Given the description of an element on the screen output the (x, y) to click on. 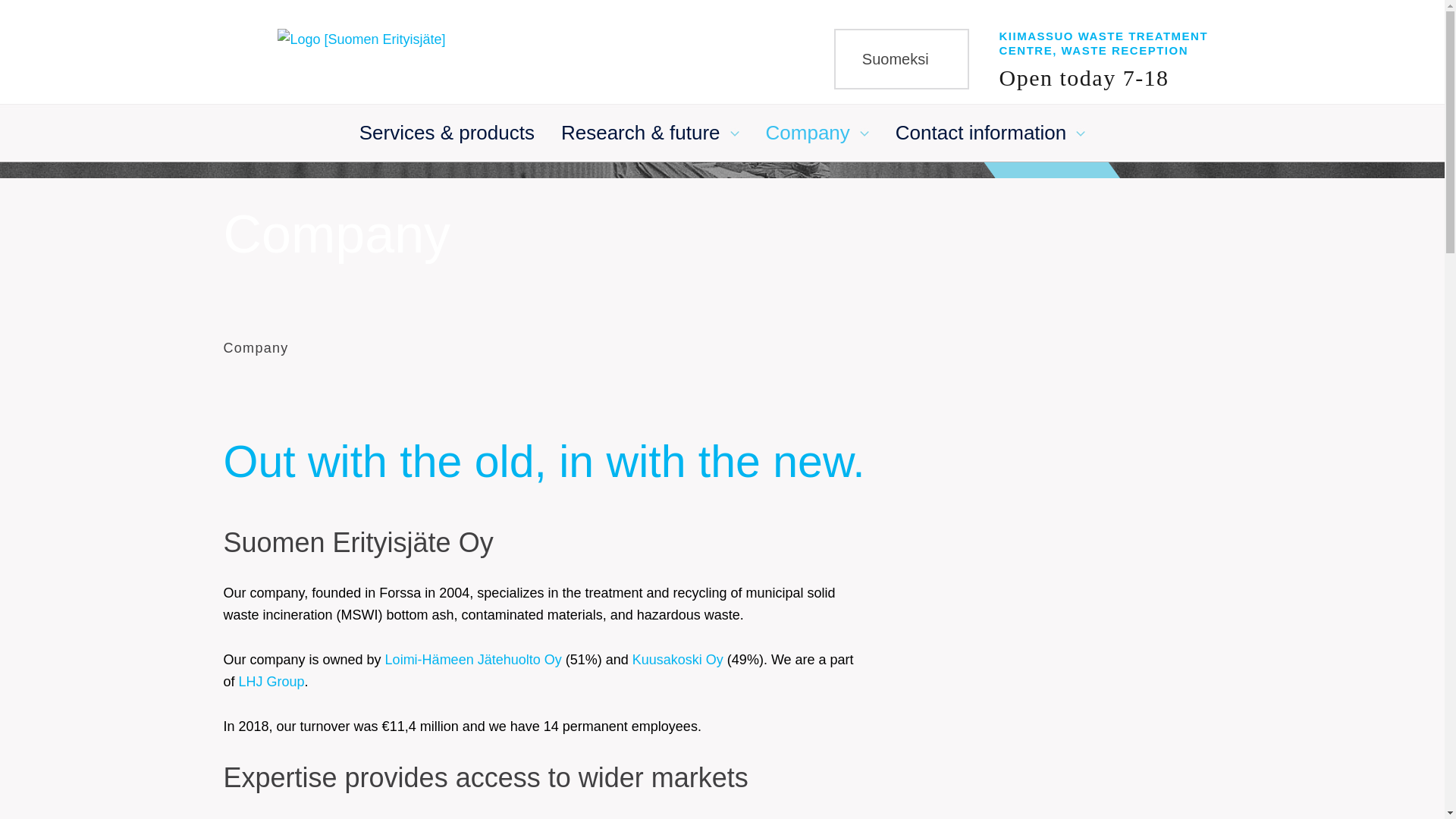
KIIMASSUO WASTE TREATMENT CENTRE, WASTE RECEPTION (1103, 42)
LHJ Group (271, 681)
Kuusakoski Oy (677, 659)
Company (807, 141)
Company (255, 347)
Contact information (980, 141)
Suomeksi (901, 58)
